Given the description of an element on the screen output the (x, y) to click on. 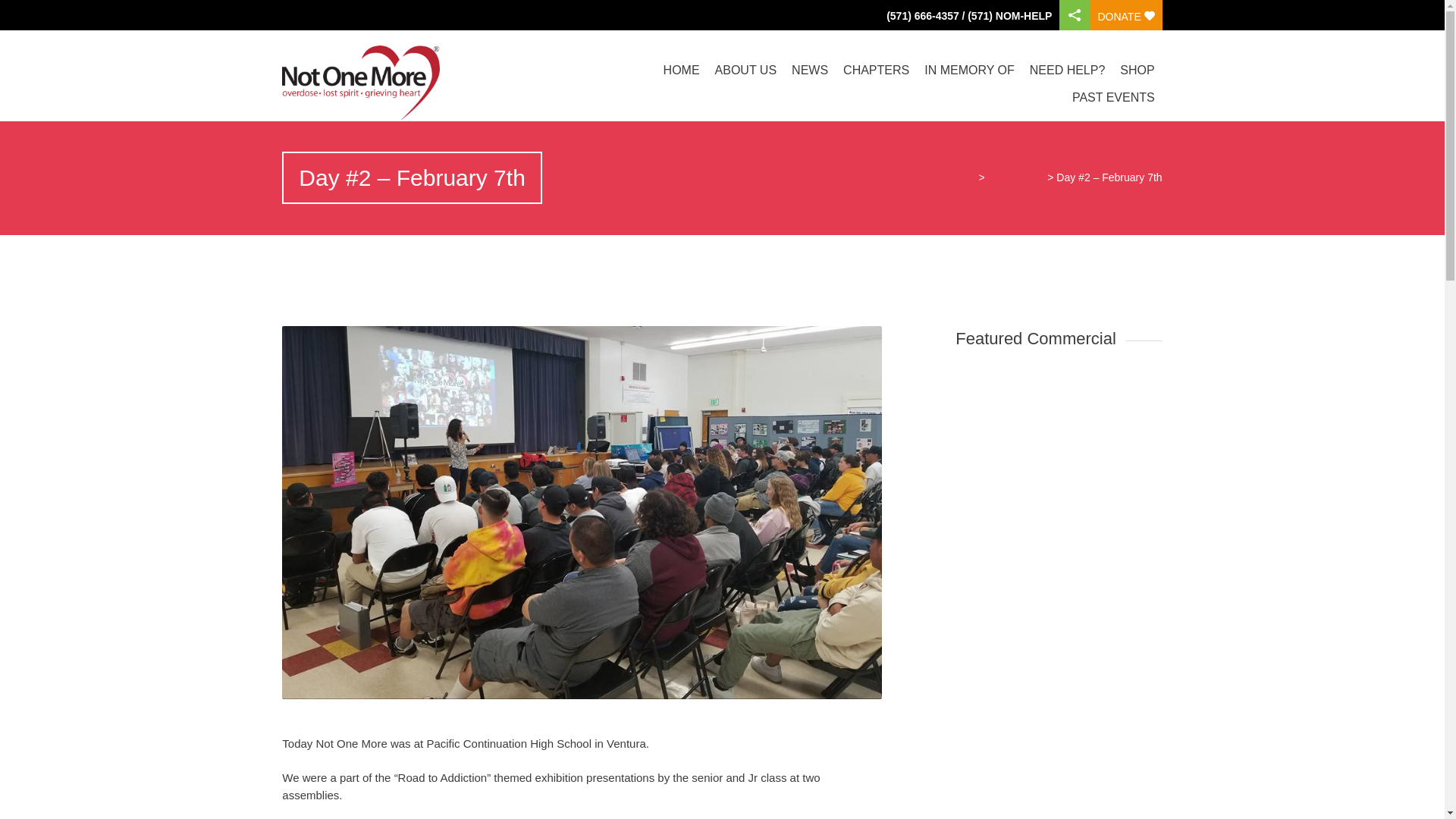
IN MEMORY OF (969, 70)
Past Events (1016, 177)
NEWS (809, 70)
Home (961, 177)
CHAPTERS (876, 70)
DONATE (1125, 15)
HOME (681, 70)
ABOUT US (745, 70)
NEED HELP? (1067, 70)
SHOP (1136, 70)
